Given the description of an element on the screen output the (x, y) to click on. 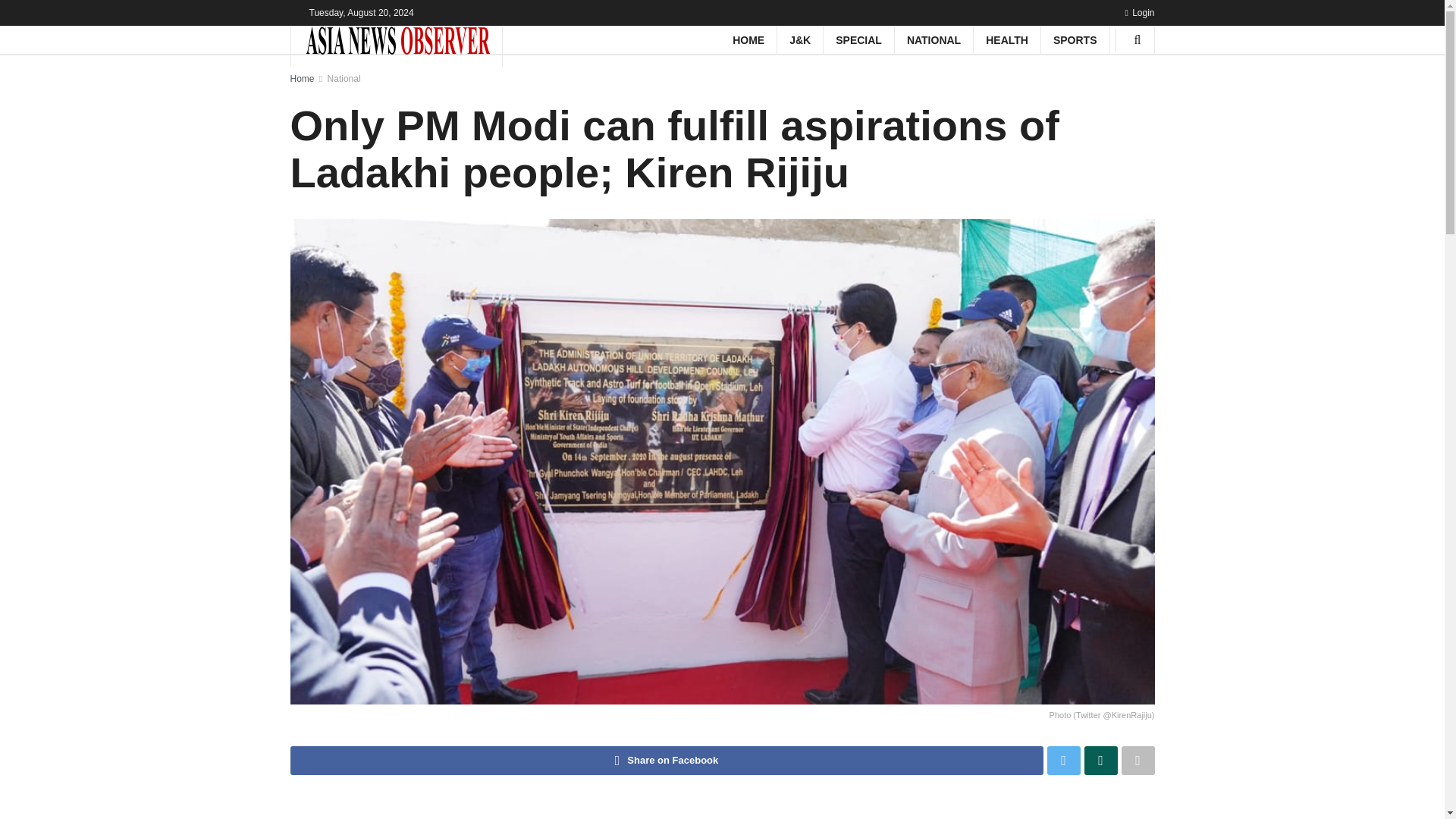
SPORTS (1075, 40)
SPECIAL (858, 40)
National (344, 78)
NATIONAL (933, 40)
Home (301, 78)
Login (1139, 12)
HOME (748, 40)
Share on Facebook (665, 760)
HEALTH (1007, 40)
